Given the description of an element on the screen output the (x, y) to click on. 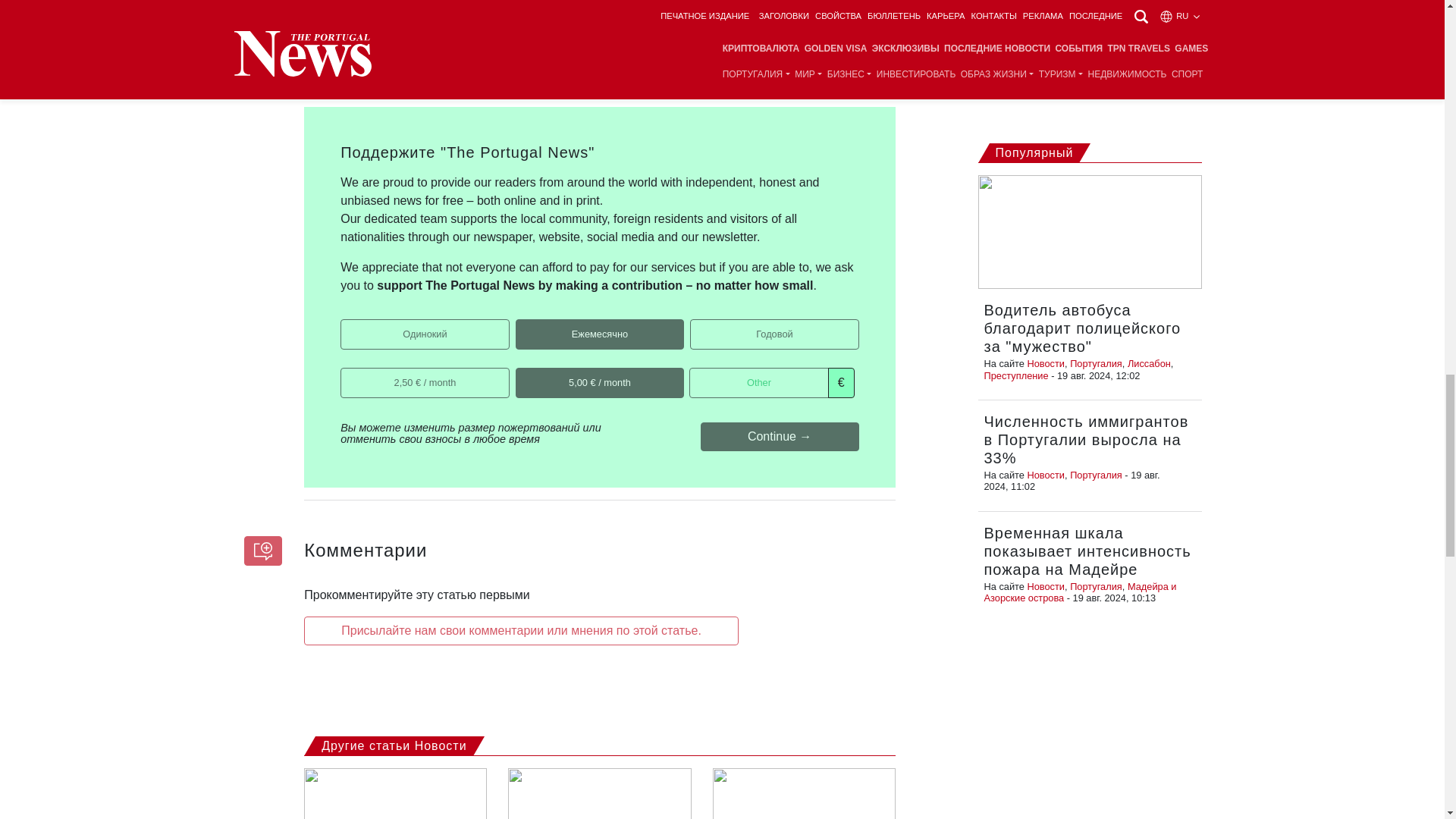
2.5 (345, 372)
5 (520, 372)
P-6T2758016F920900CMGGQYMQ (520, 324)
P-18662245734186221MGVD6SI (695, 324)
single (345, 324)
